Given the description of an element on the screen output the (x, y) to click on. 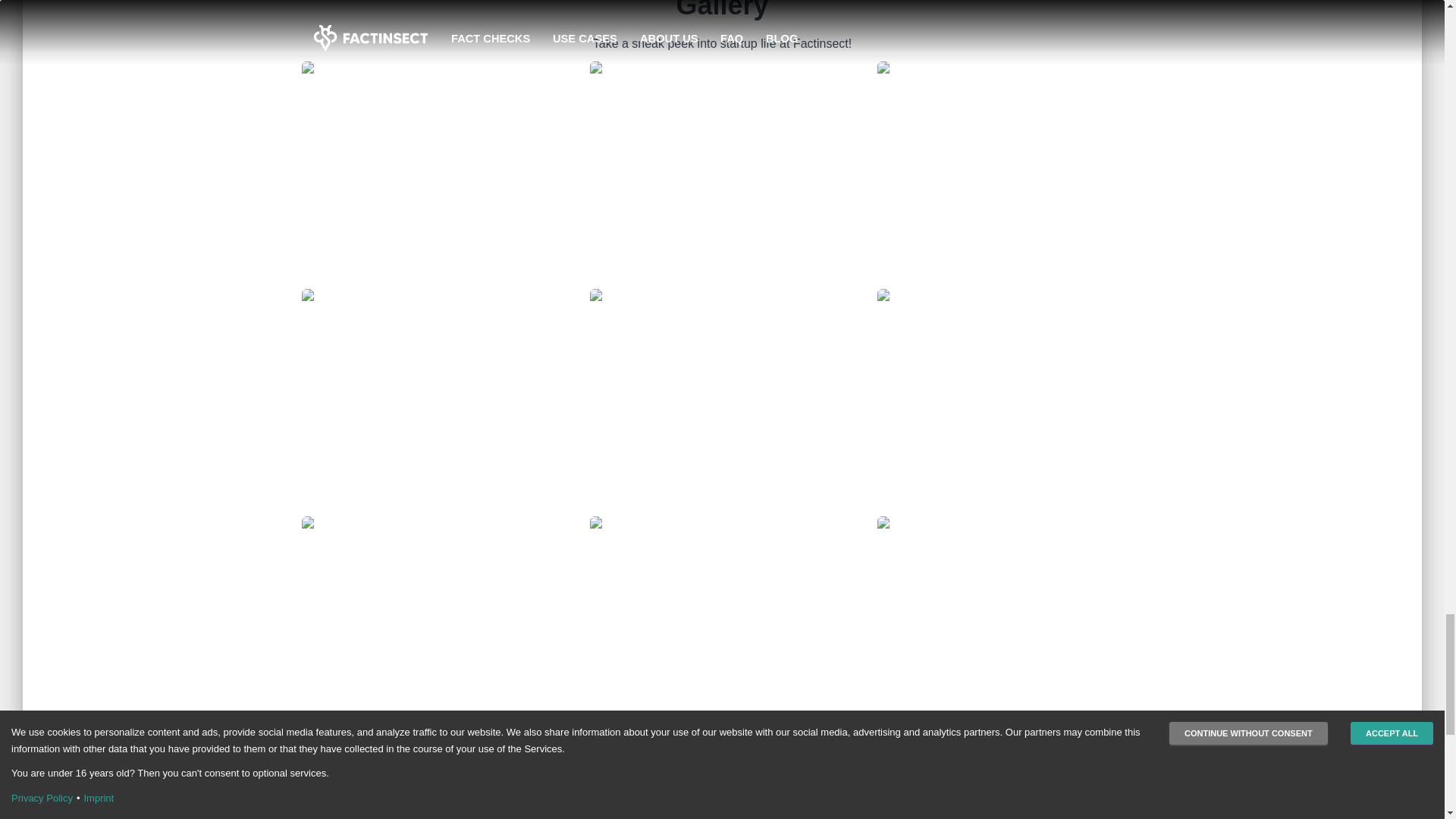
Factinsect Founders Silja Kempinger and Romana Dorfer (434, 402)
Factinsect is presenting in front of journalistis (722, 629)
